Given the description of an element on the screen output the (x, y) to click on. 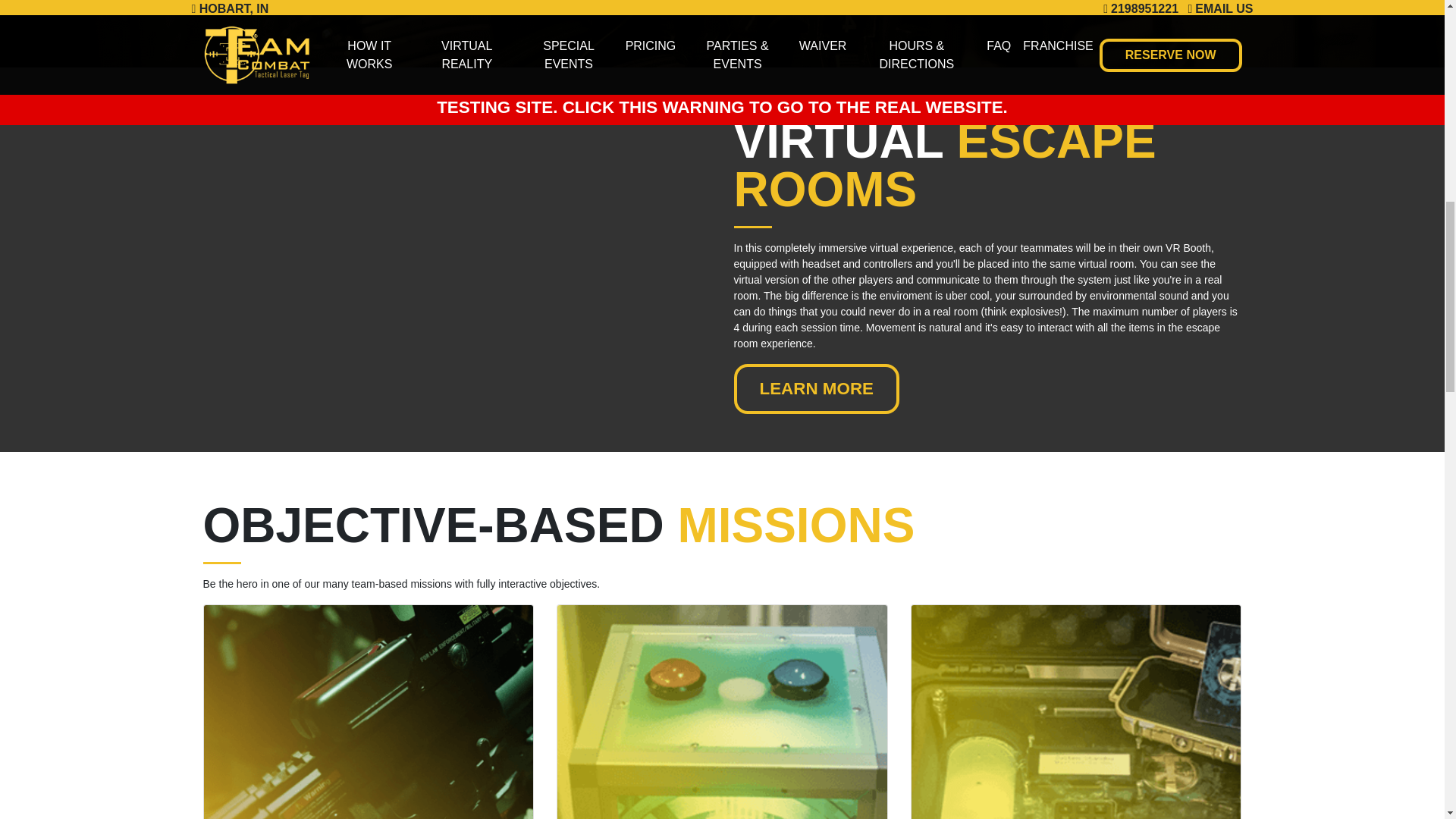
RESERVE NOW (292, 2)
LEARN MORE (816, 388)
